Given the description of an element on the screen output the (x, y) to click on. 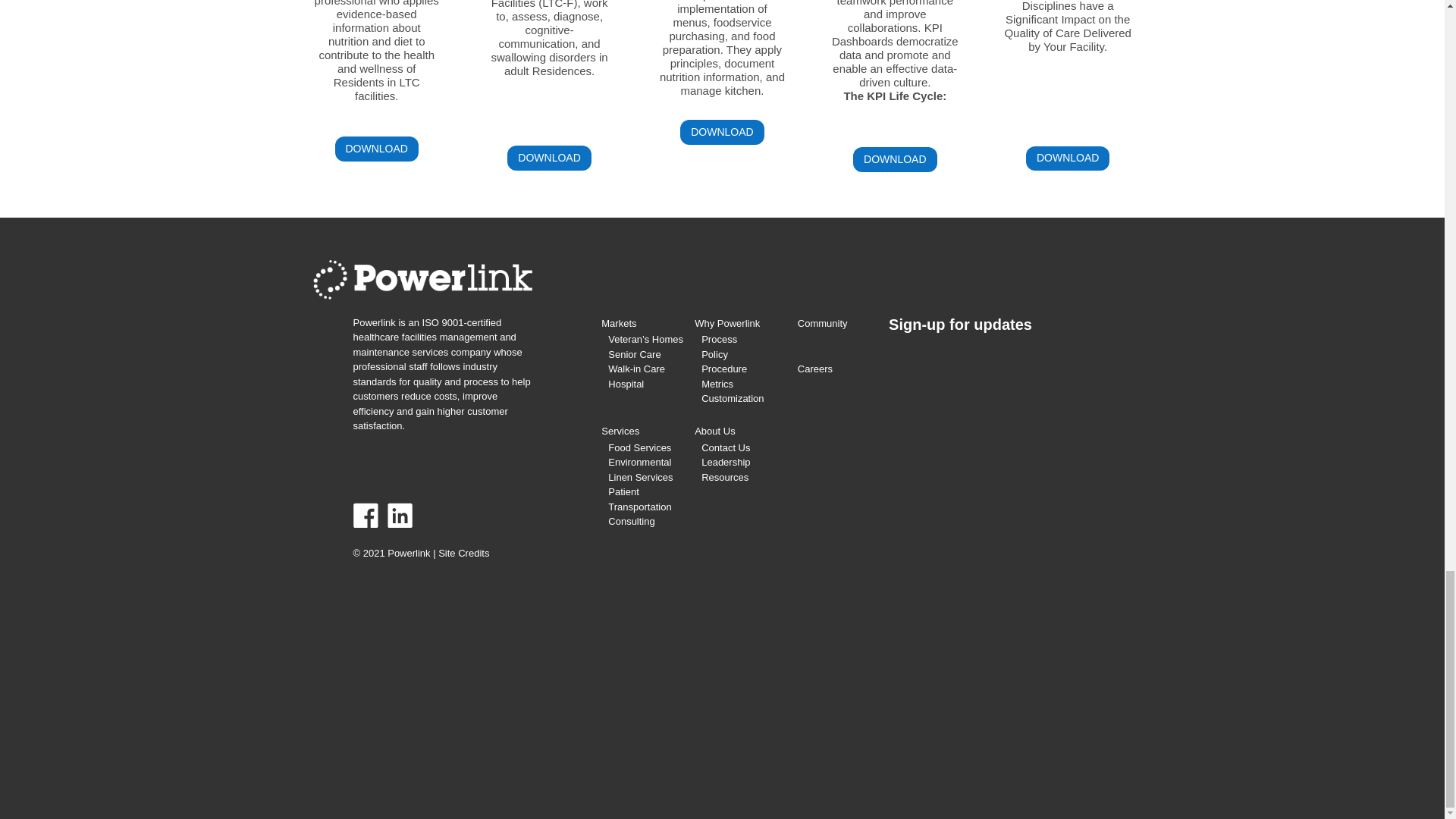
White Logos Web LinearAsset 1 (422, 279)
